Given the description of an element on the screen output the (x, y) to click on. 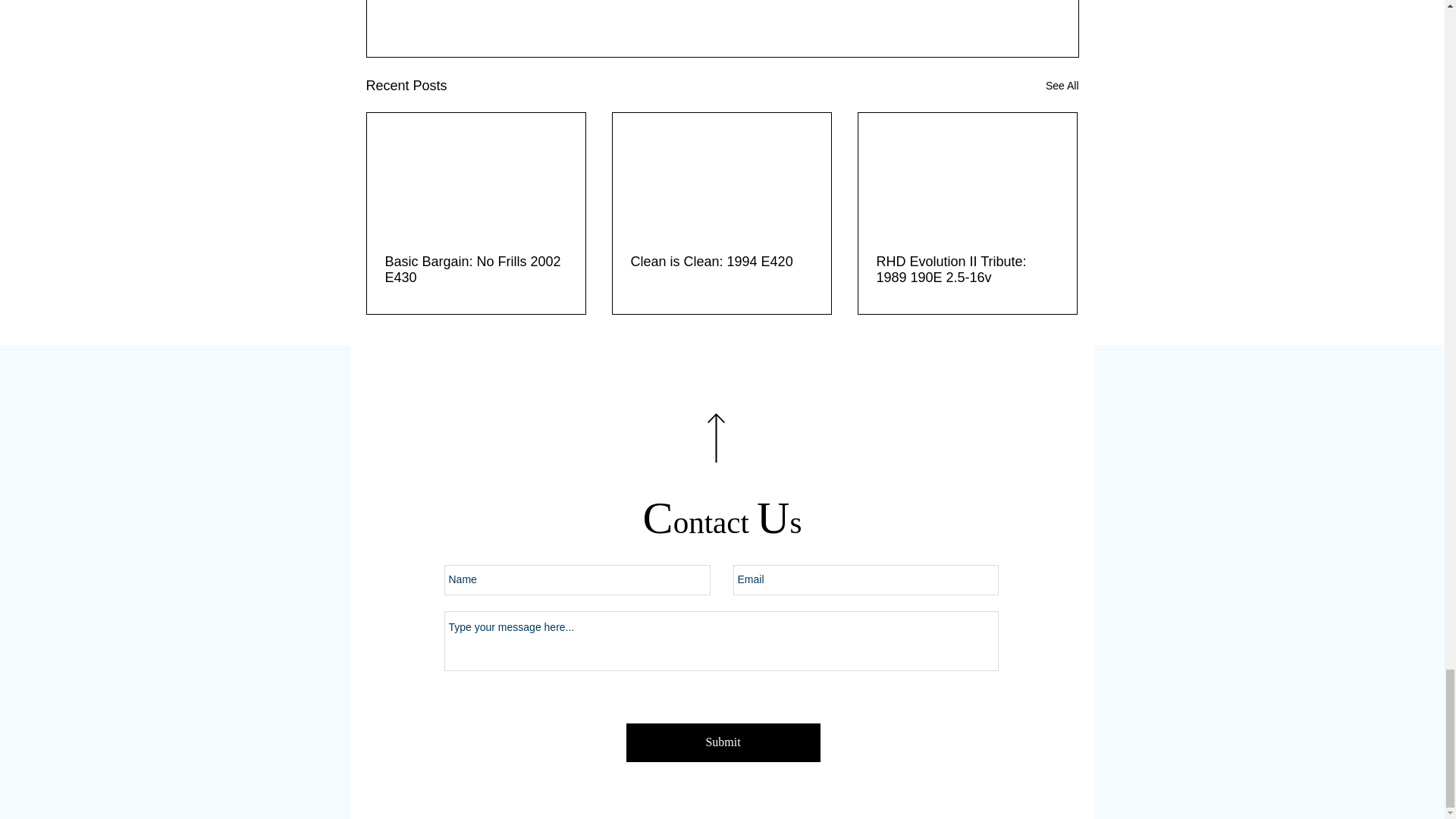
See All (1061, 86)
RHD Evolution II Tribute: 1989 190E 2.5-16v (967, 269)
Submit (723, 742)
Clean is Clean: 1994 E420 (721, 261)
Basic Bargain: No Frills 2002 E430 (476, 269)
